Given the description of an element on the screen output the (x, y) to click on. 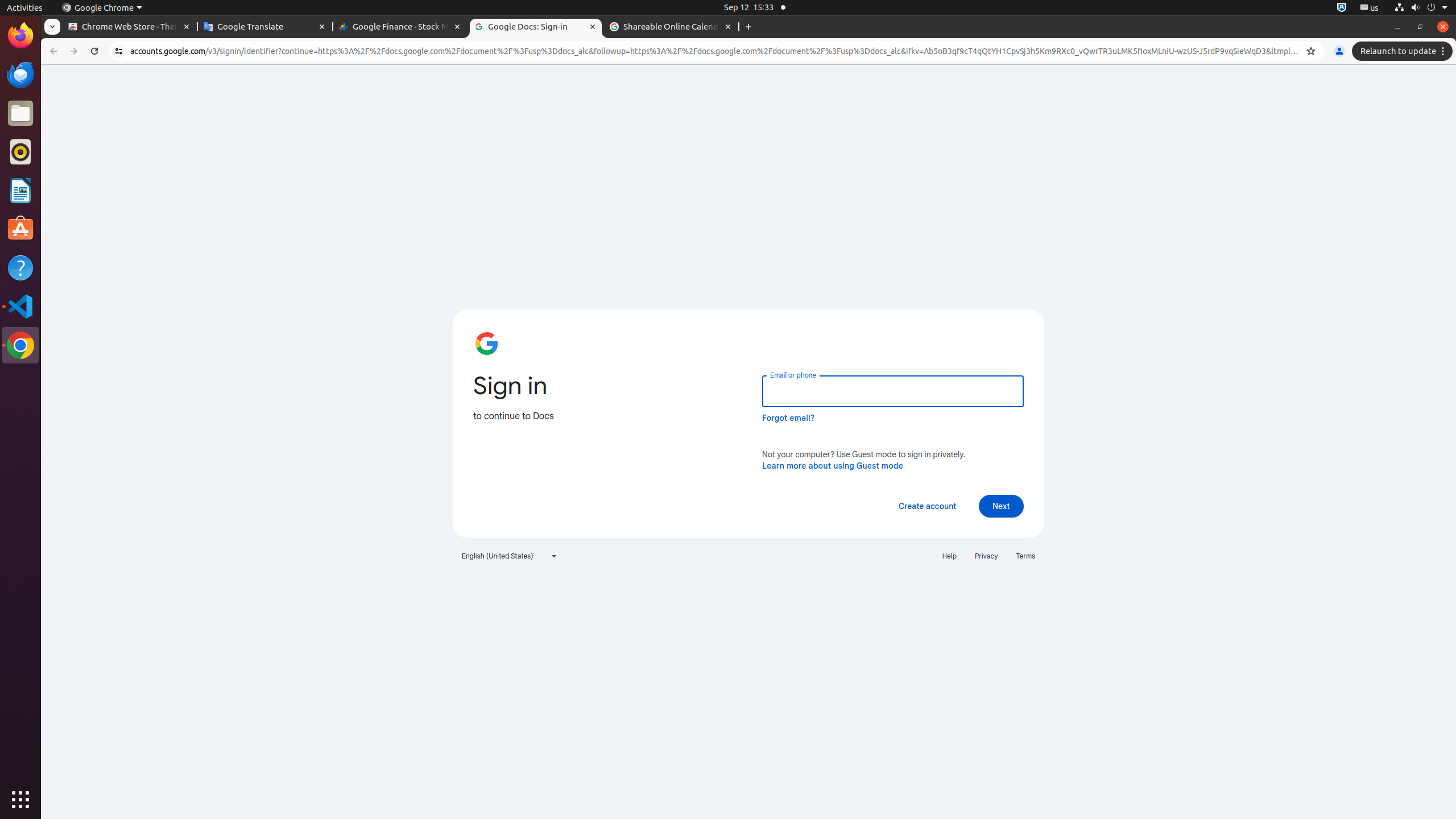
Firefox Web Browser Element type: push-button (20, 35)
Files Element type: push-button (20, 113)
Back Element type: push-button (51, 50)
Google Translate - Memory usage - 77.6 MB Element type: page-tab (264, 26)
LibreOffice Writer Element type: push-button (20, 190)
